Given the description of an element on the screen output the (x, y) to click on. 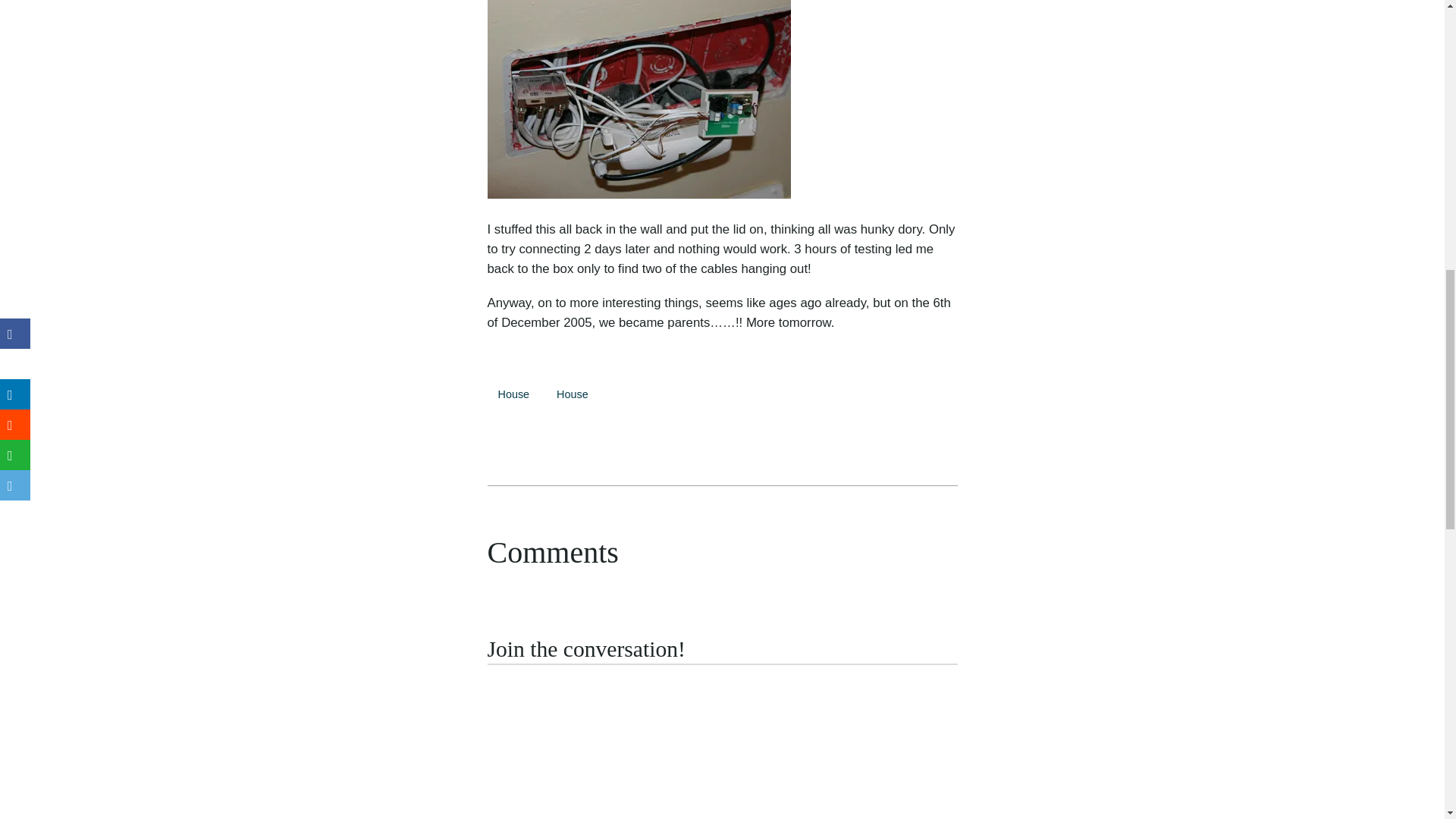
House (513, 394)
Comment Form (721, 741)
House (572, 394)
